Given the description of an element on the screen output the (x, y) to click on. 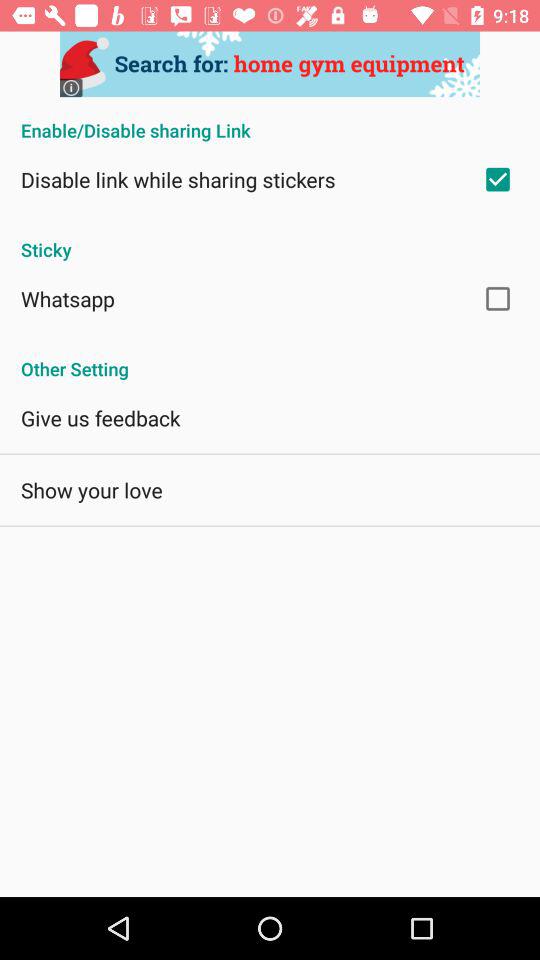
launch icon above the other setting app (67, 298)
